Given the description of an element on the screen output the (x, y) to click on. 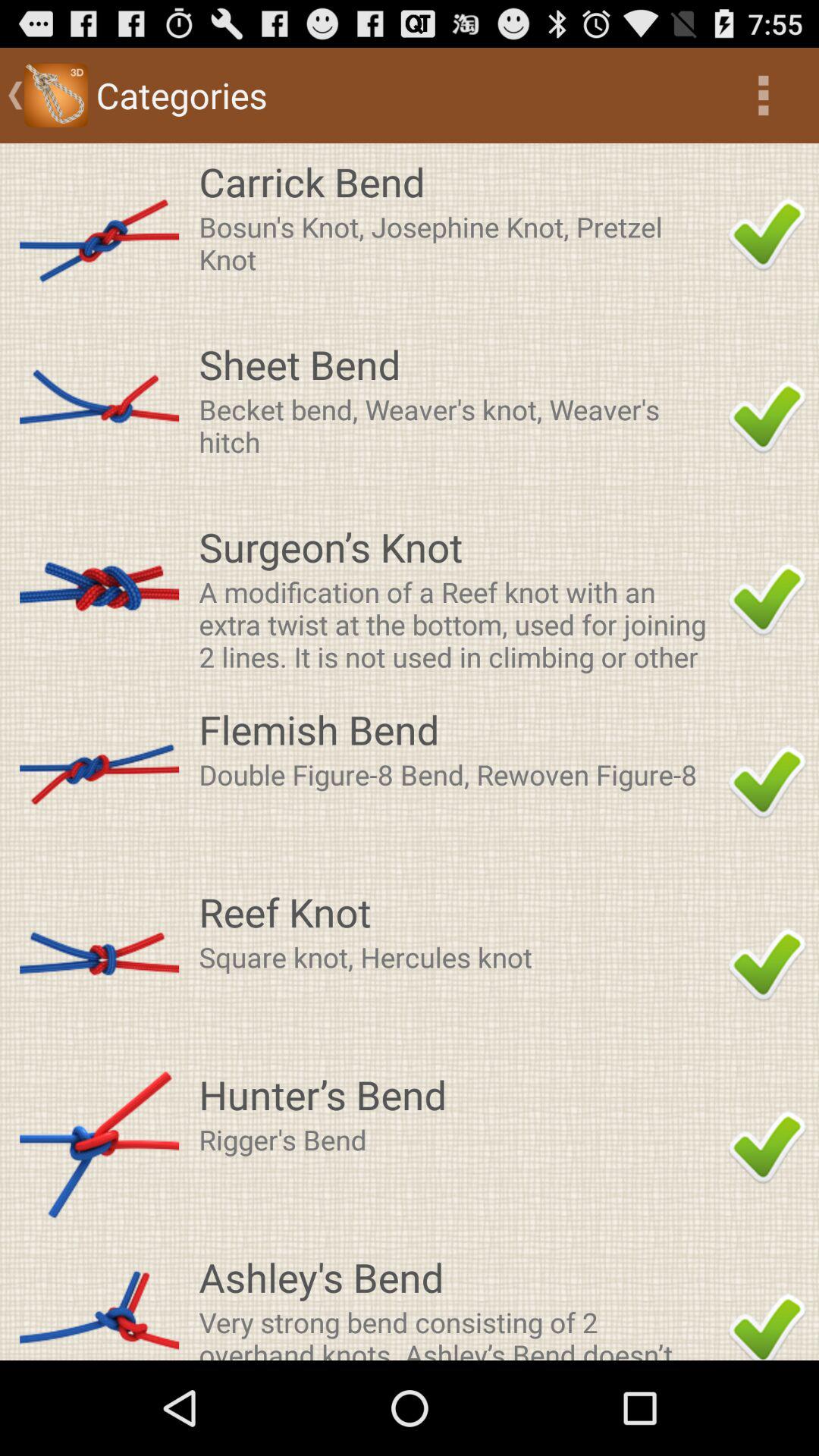
flip until the rigger's bend app (459, 1139)
